Given the description of an element on the screen output the (x, y) to click on. 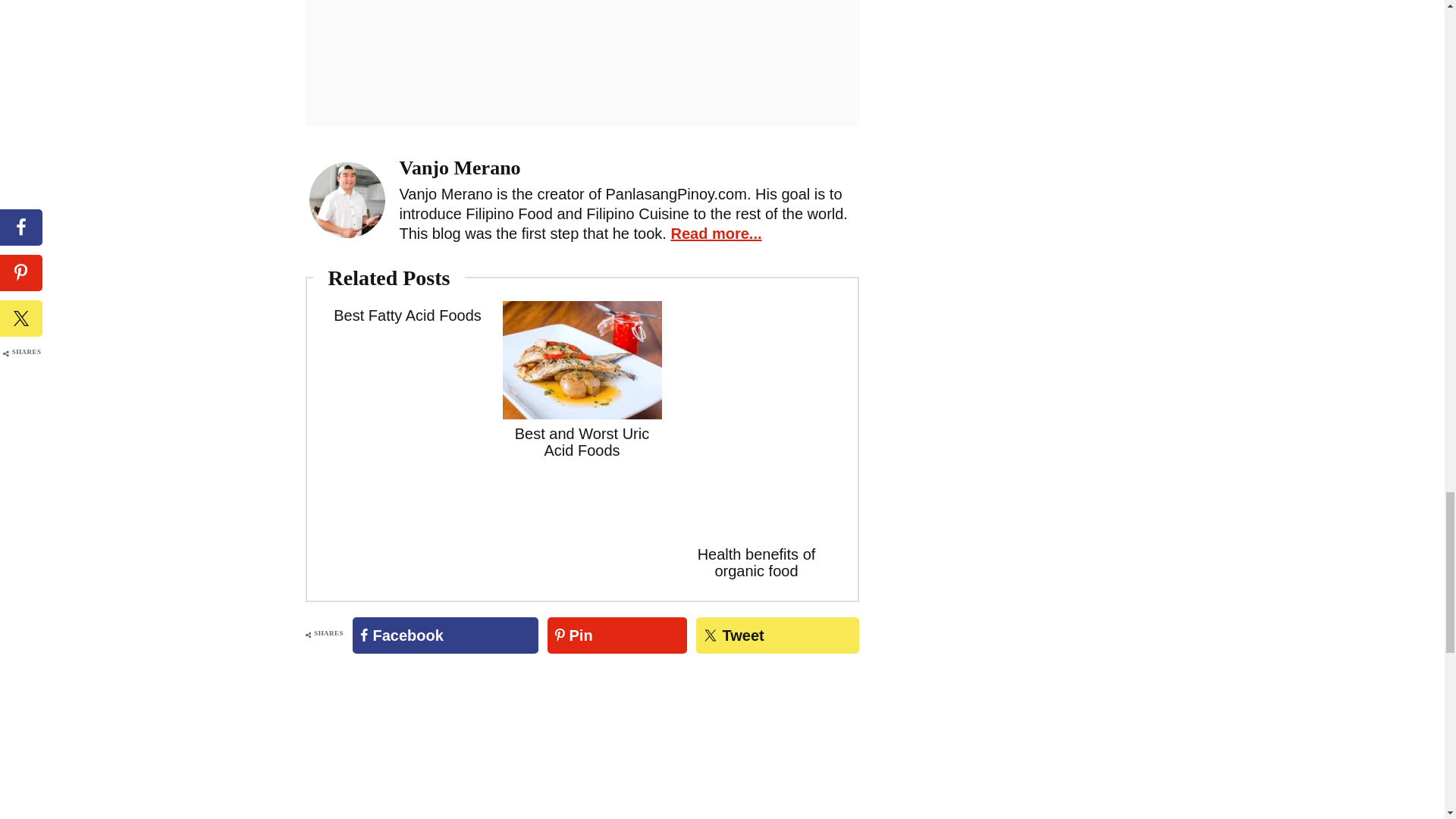
Share on Facebook (445, 635)
Share on Pinterest (617, 635)
Share on Twitter (777, 635)
